Given the description of an element on the screen output the (x, y) to click on. 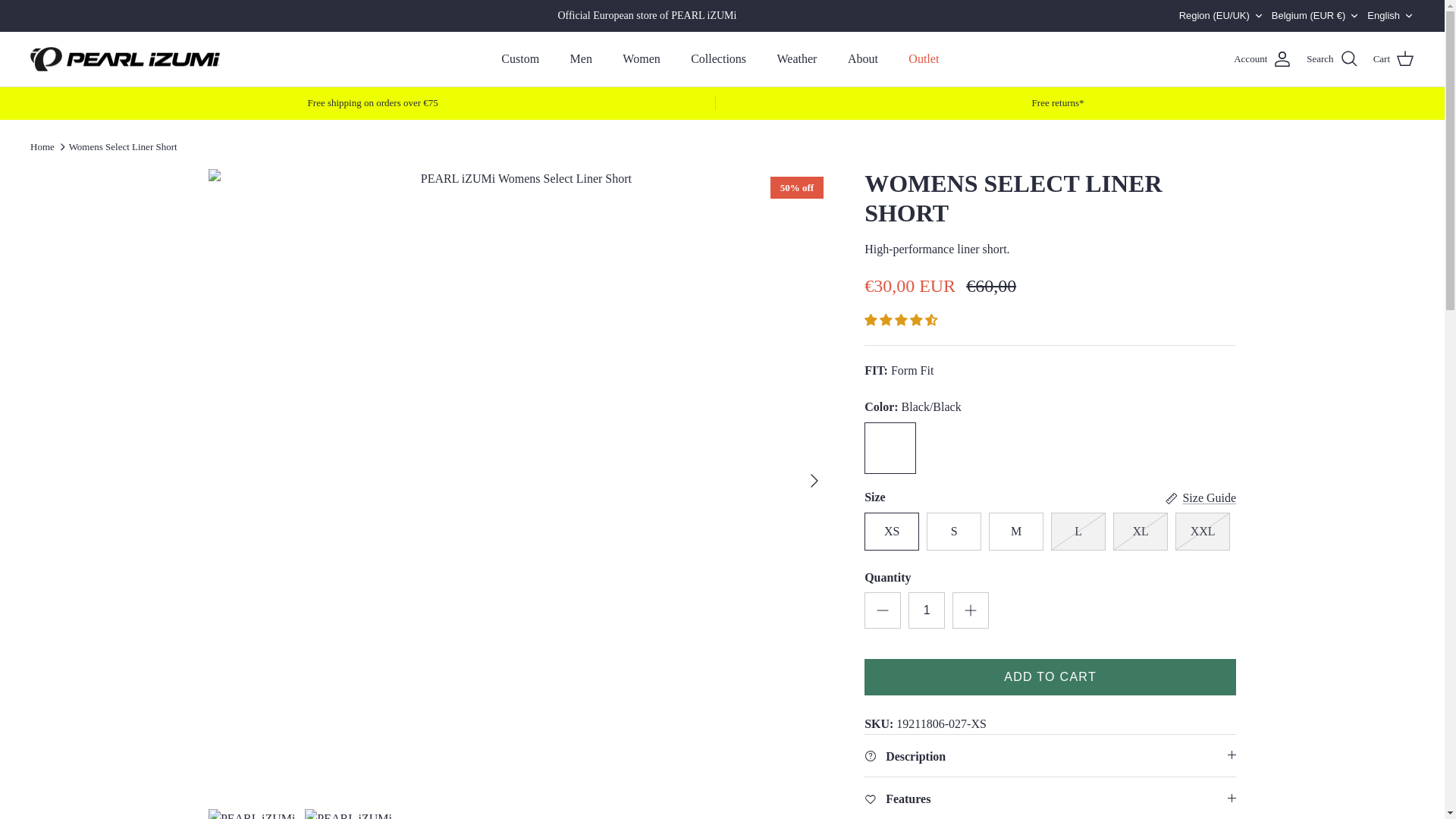
Down (1408, 15)
Plus (969, 610)
Down (1258, 15)
PEARL iZUMi EU (124, 59)
Men (580, 59)
Custom (520, 59)
Women (640, 59)
Collections (718, 59)
Weather (796, 59)
1 (926, 610)
